Given the description of an element on the screen output the (x, y) to click on. 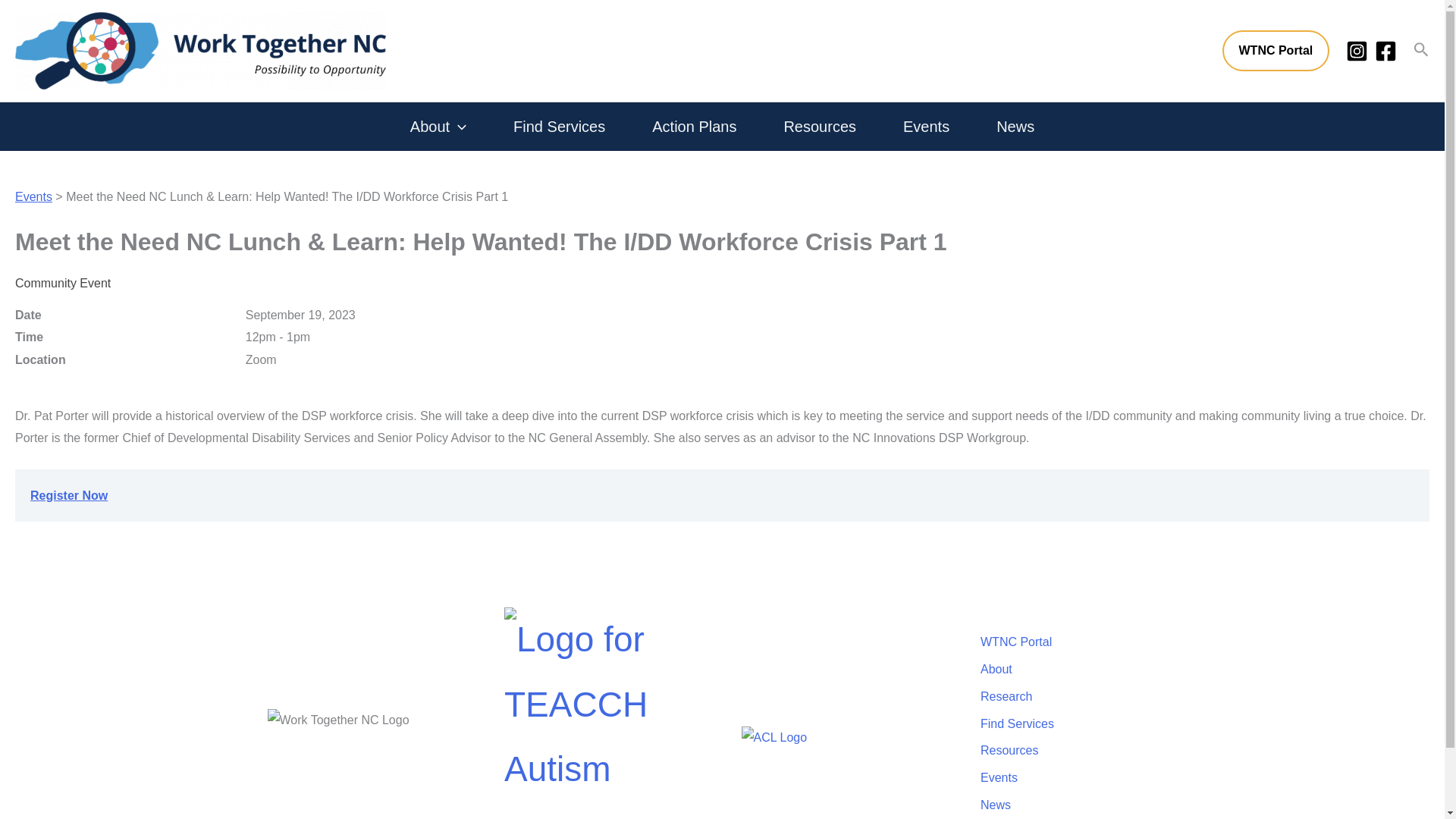
Events (33, 196)
Events (925, 126)
Resources (819, 126)
Find Services (558, 126)
WTNC Portal (1276, 50)
Register Now (68, 495)
Register Now (68, 495)
News (1015, 126)
Action Plans (694, 126)
About (437, 126)
